Given the description of an element on the screen output the (x, y) to click on. 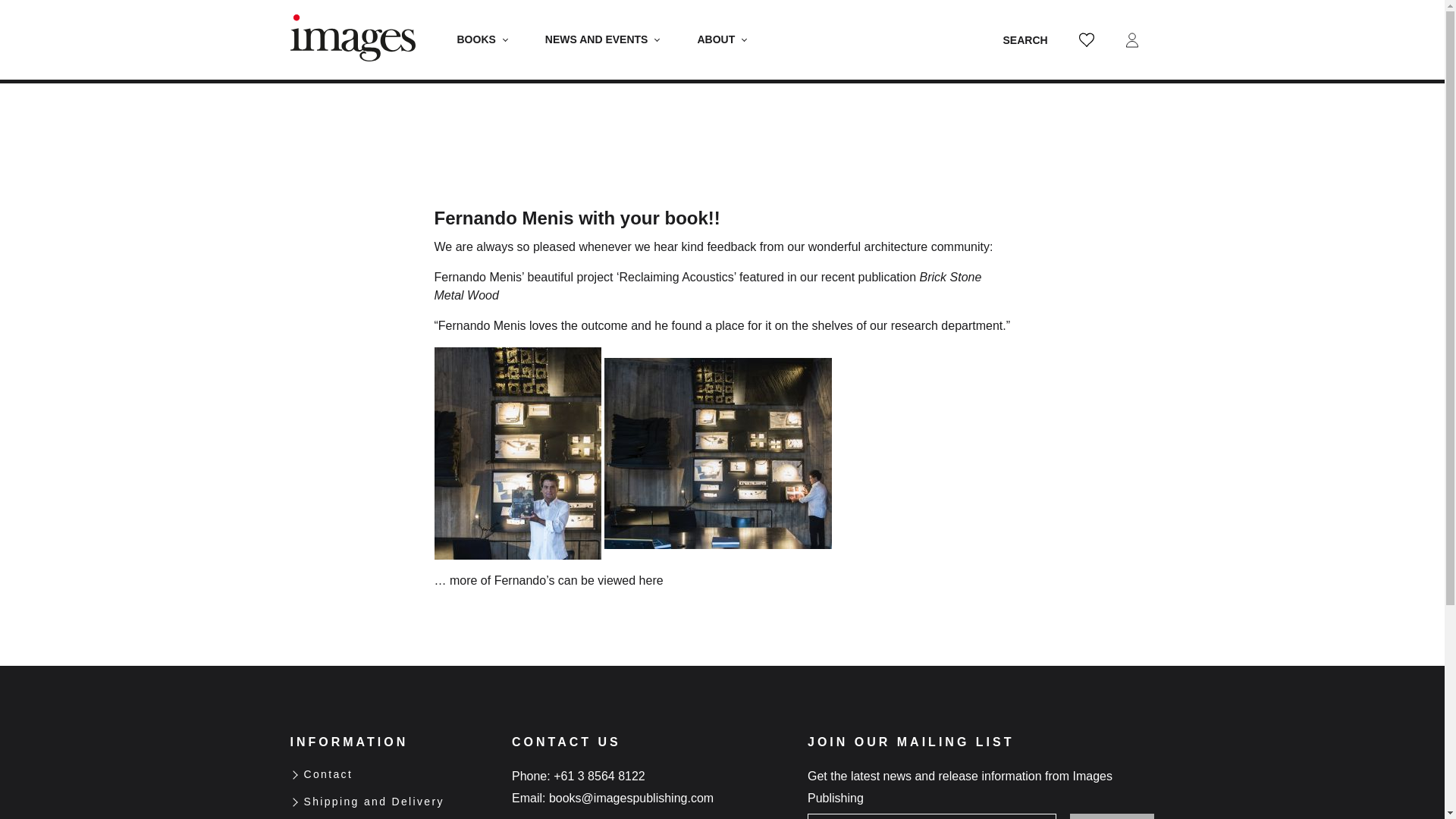
BOOKS (481, 39)
Wish List (1085, 39)
Images Publishing UK (352, 39)
Join now (1112, 816)
Login (1131, 39)
Shipping and Delivery (373, 802)
NEWS AND EVENTS (601, 39)
here (651, 580)
ABOUT (721, 39)
Brick Stone Metal Wood (707, 286)
